Given the description of an element on the screen output the (x, y) to click on. 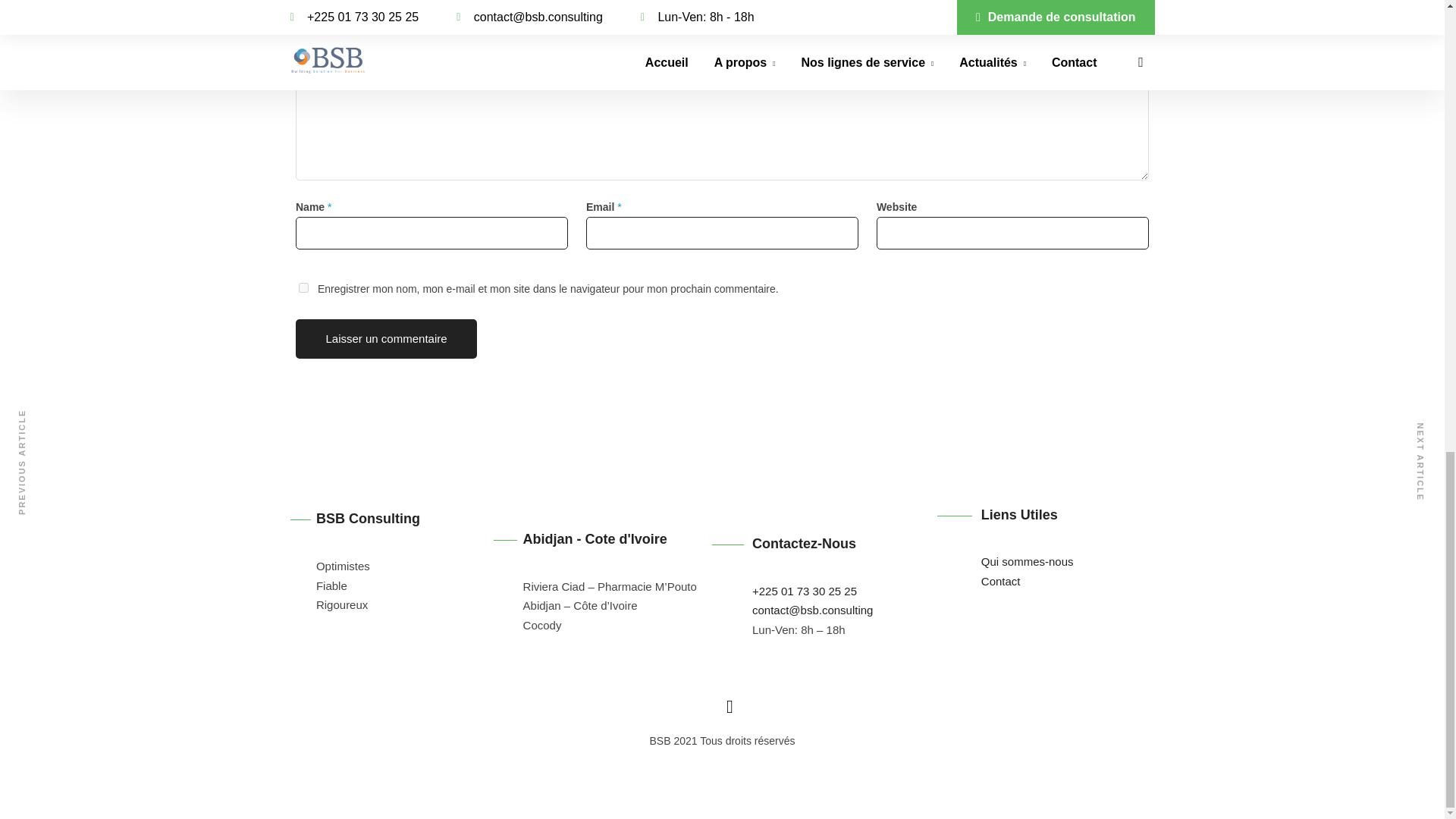
yes (303, 287)
Laisser un commentaire (386, 338)
